Given the description of an element on the screen output the (x, y) to click on. 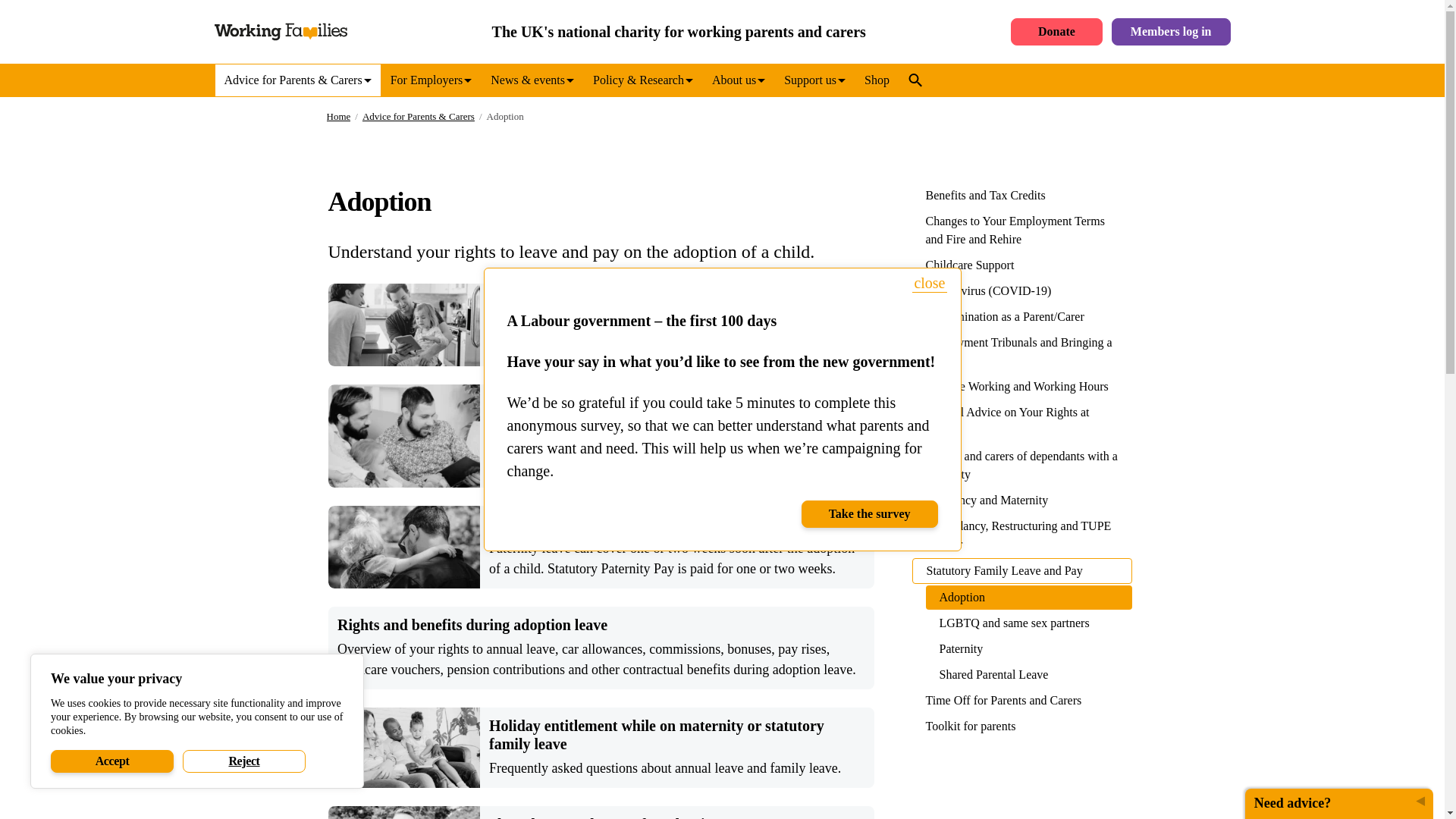
Members log in (1171, 31)
Donate (1056, 31)
For Employers (430, 80)
